Given the description of an element on the screen output the (x, y) to click on. 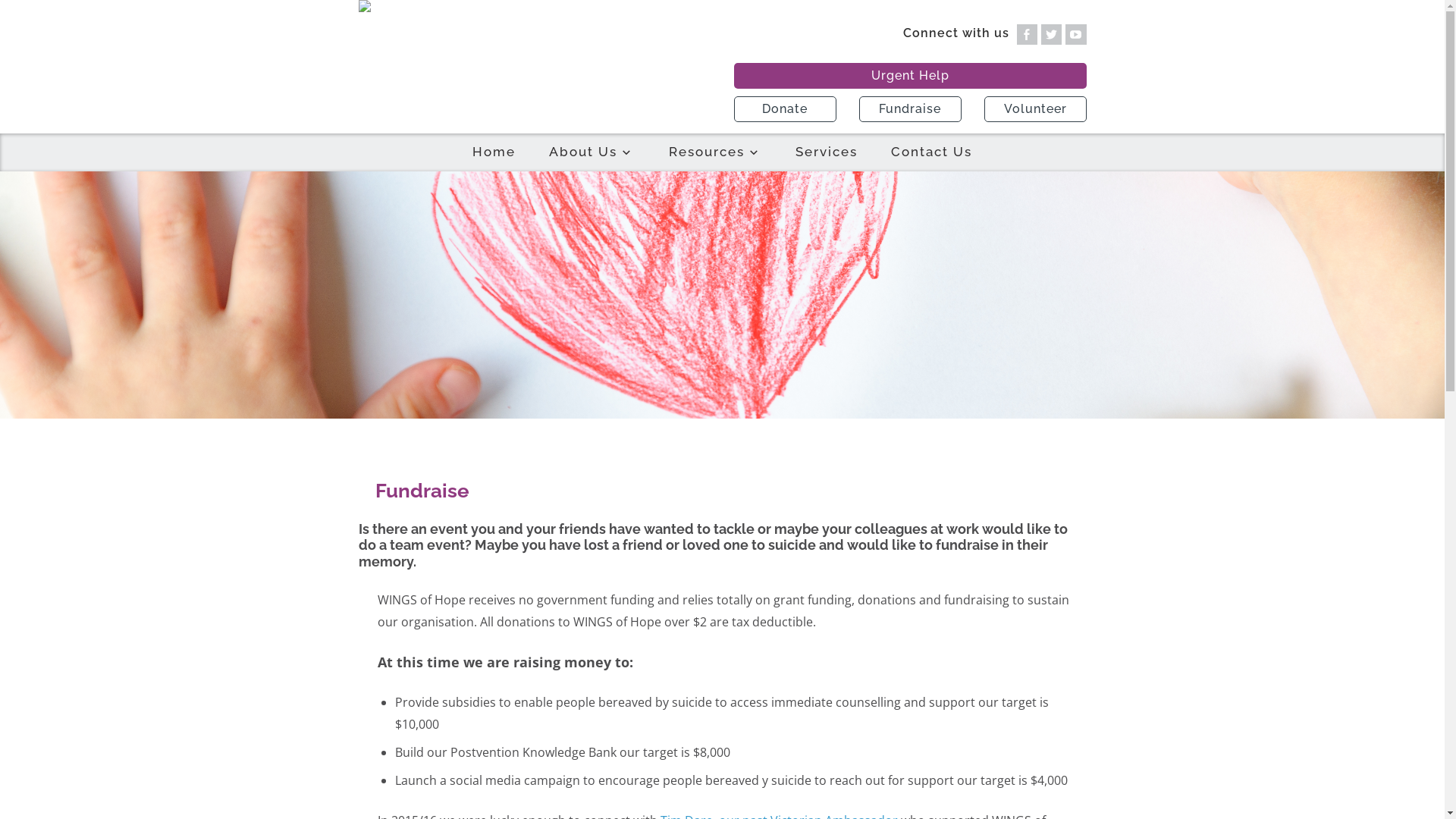
Contact Us Element type: text (931, 152)
Volunteer Element type: text (1035, 109)
Fundraise Element type: text (909, 109)
Donate Element type: text (785, 109)
Services Element type: text (826, 152)
Return to homepage Element type: hover (533, 6)
Resources Element type: text (715, 152)
Home Element type: text (493, 152)
Urgent Help Element type: text (910, 75)
About Us Element type: text (591, 152)
